Given the description of an element on the screen output the (x, y) to click on. 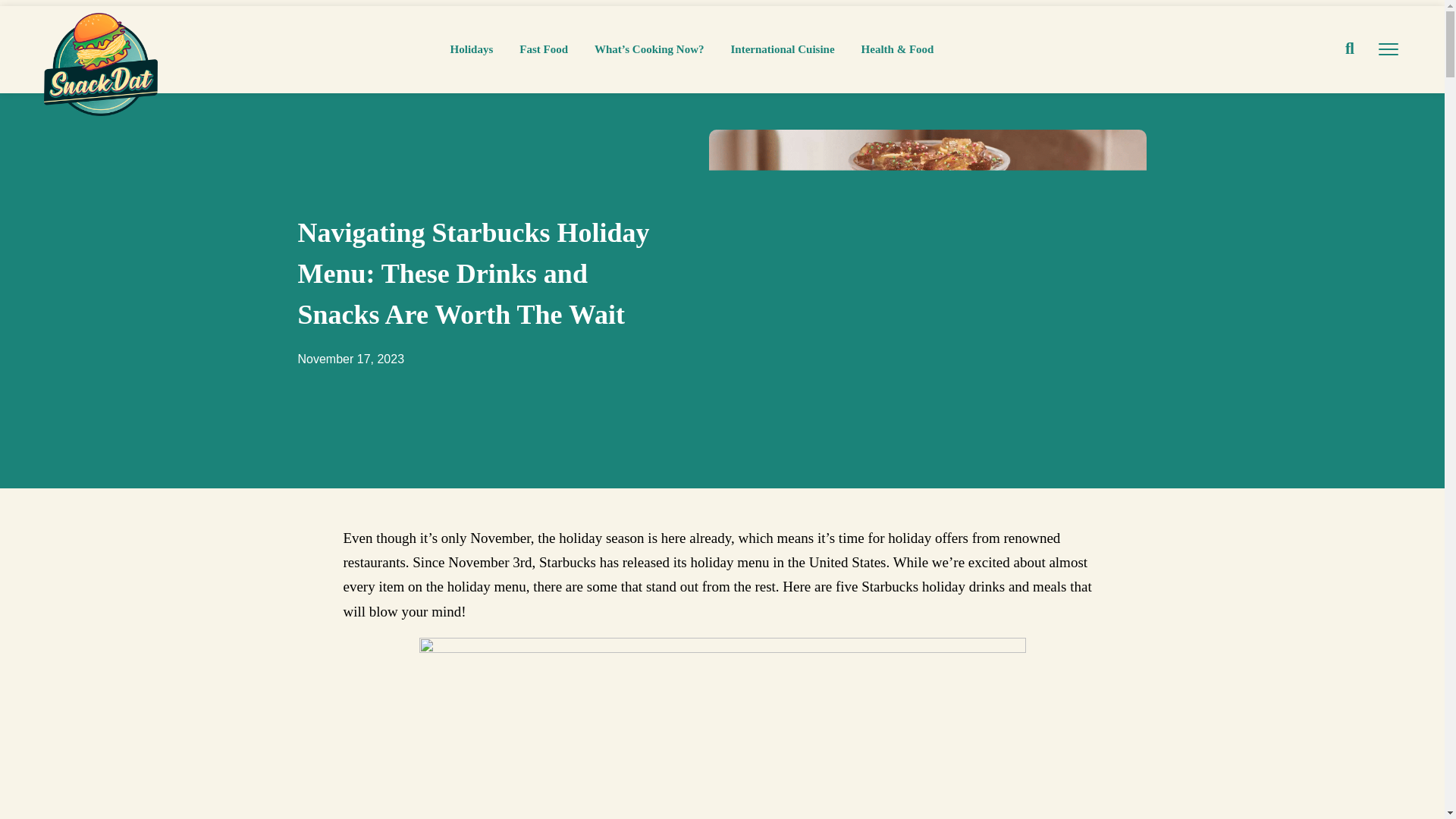
Holidays (471, 49)
November 17, 2023 (350, 359)
Fast Food (543, 49)
International Cuisine (782, 49)
